Given the description of an element on the screen output the (x, y) to click on. 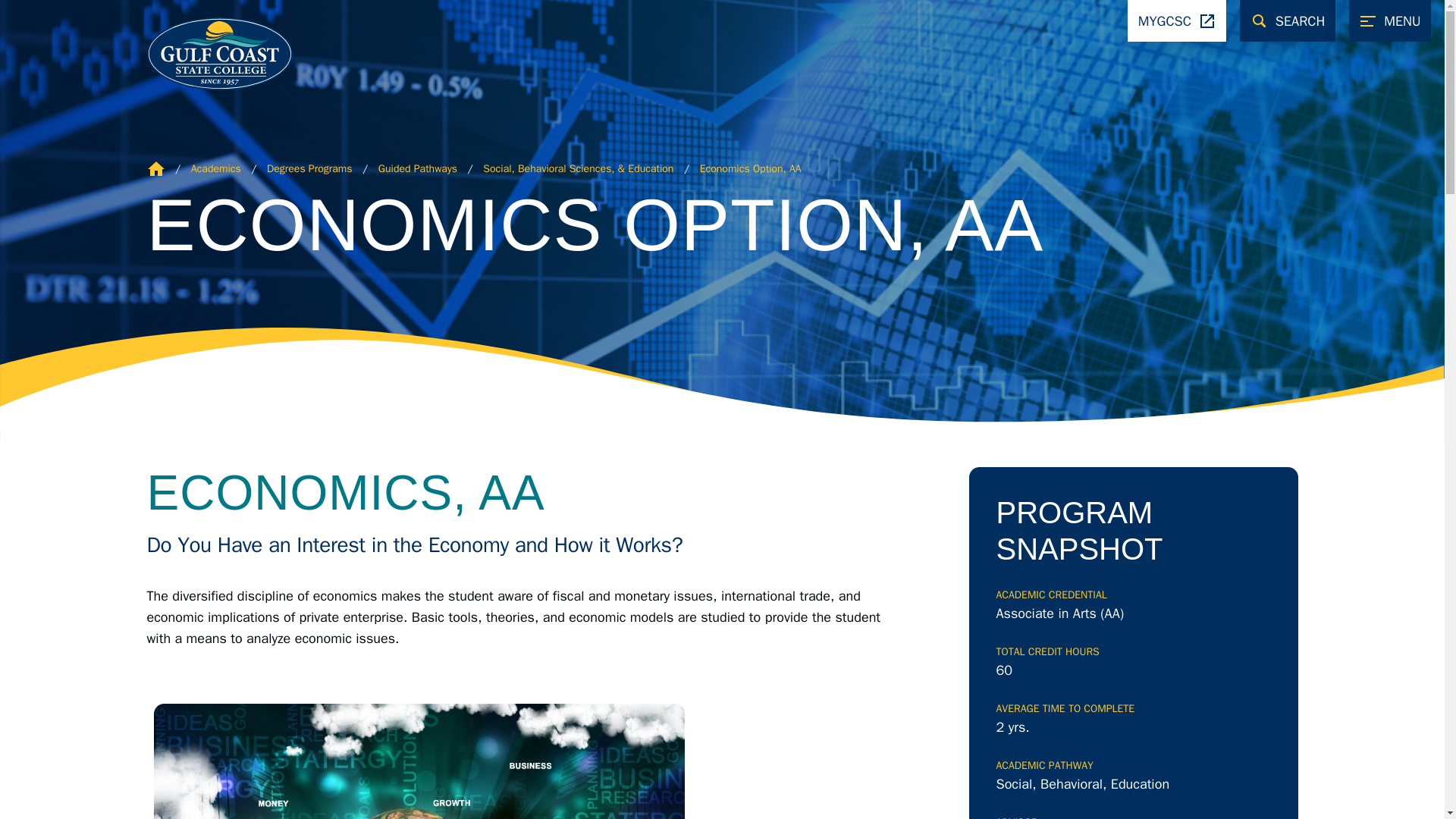
Go to this page (577, 168)
Guided Pathways (417, 168)
Go to this page (309, 168)
Economics Option, AA (751, 168)
Gulf Coast State College Homepage (203, 52)
MYGCSC (1175, 20)
Home (156, 168)
MENU (1390, 20)
Degrees Programs (309, 168)
Go to this page (417, 168)
Go to this page (751, 168)
Go to this page (215, 168)
Academics (215, 168)
SEARCH (1287, 20)
Gulf Coast State College Homepage (156, 168)
